Given the description of an element on the screen output the (x, y) to click on. 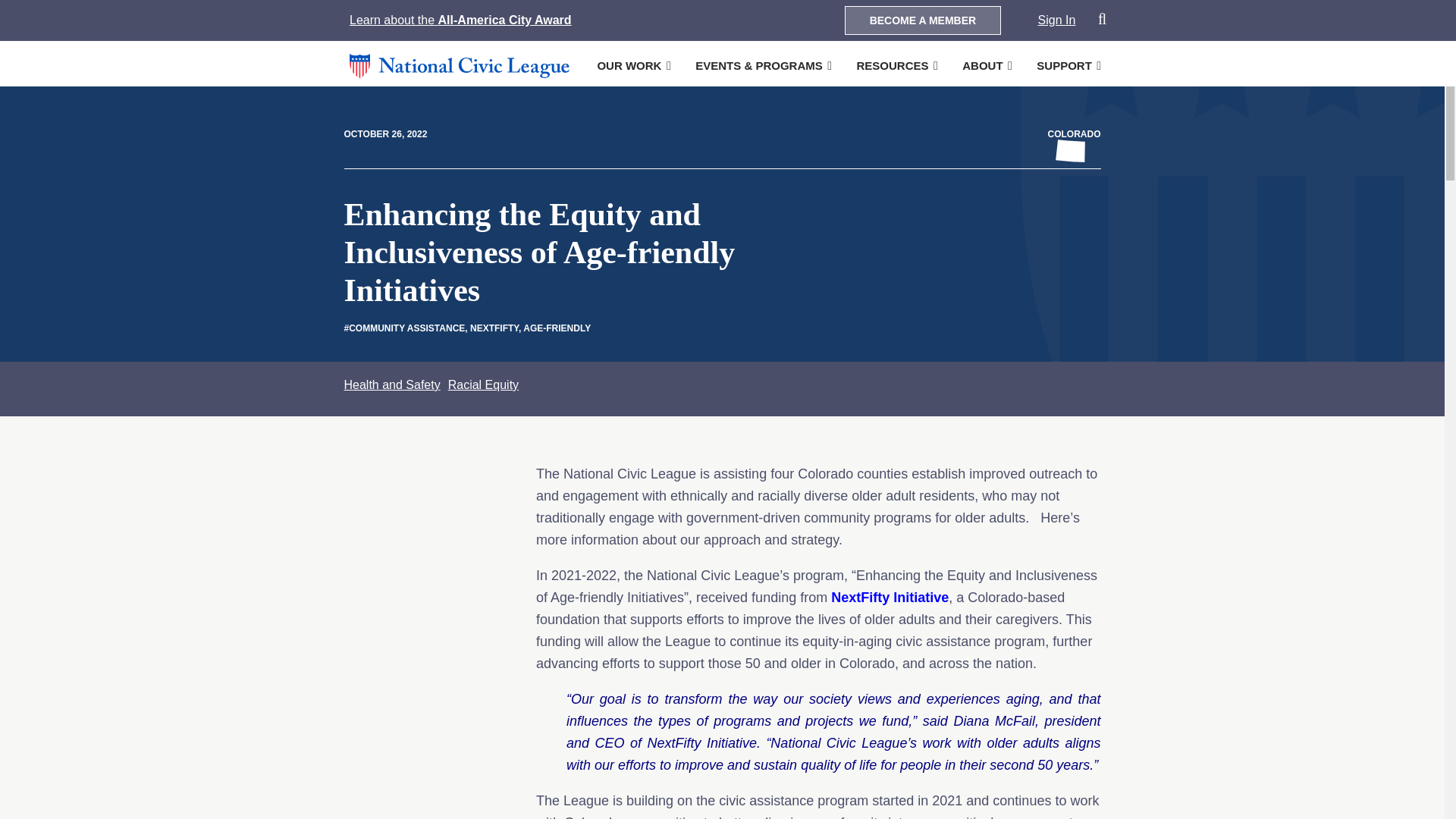
OUR WORK (628, 65)
Learn about the All-America City Award (460, 19)
BECOME A MEMBER (922, 20)
Sign In (1056, 19)
ABOUT (982, 65)
RESOURCES (892, 65)
SUPPORT (1064, 65)
